Given the description of an element on the screen output the (x, y) to click on. 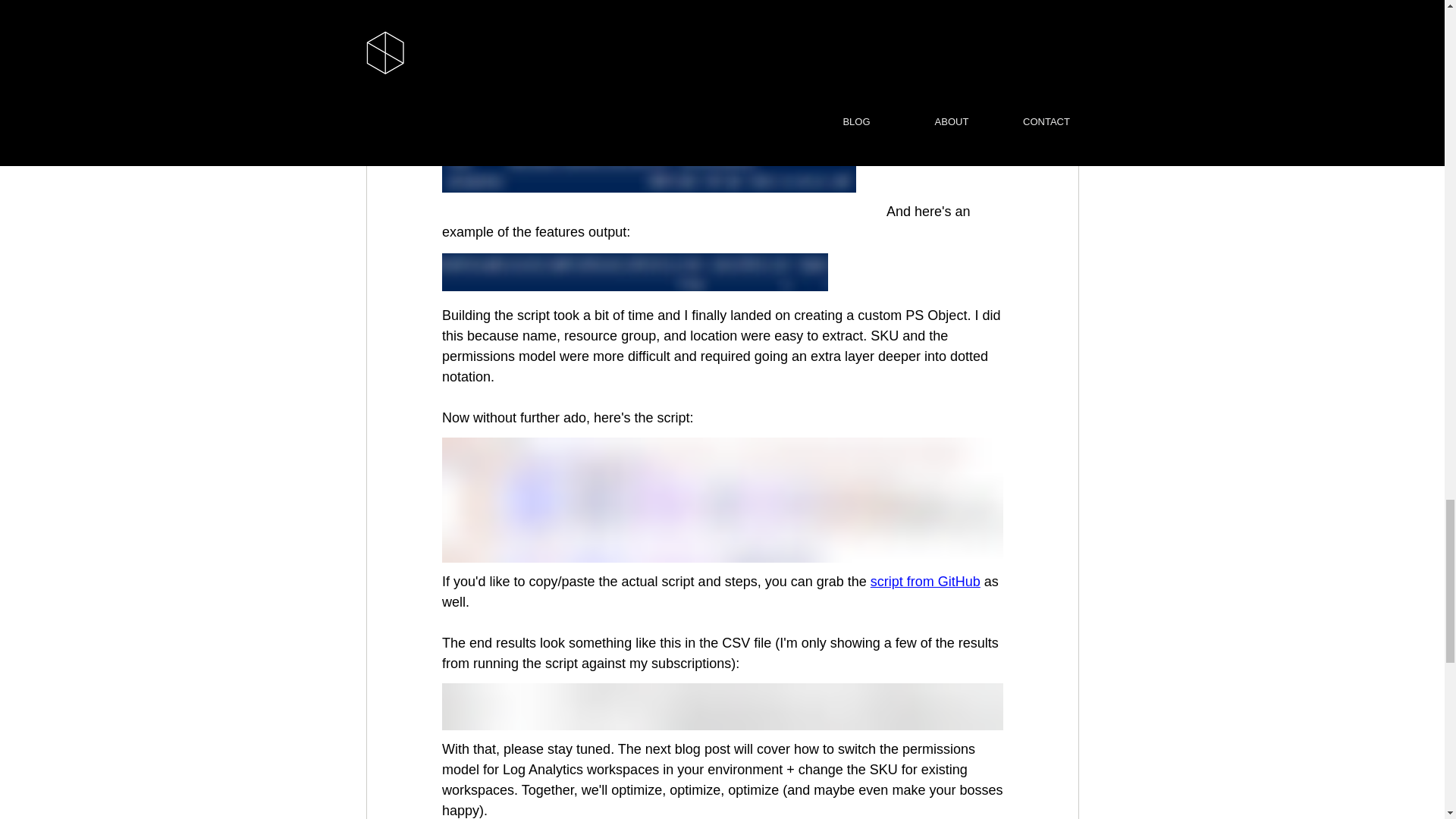
script from GitHub (924, 581)
